Given the description of an element on the screen output the (x, y) to click on. 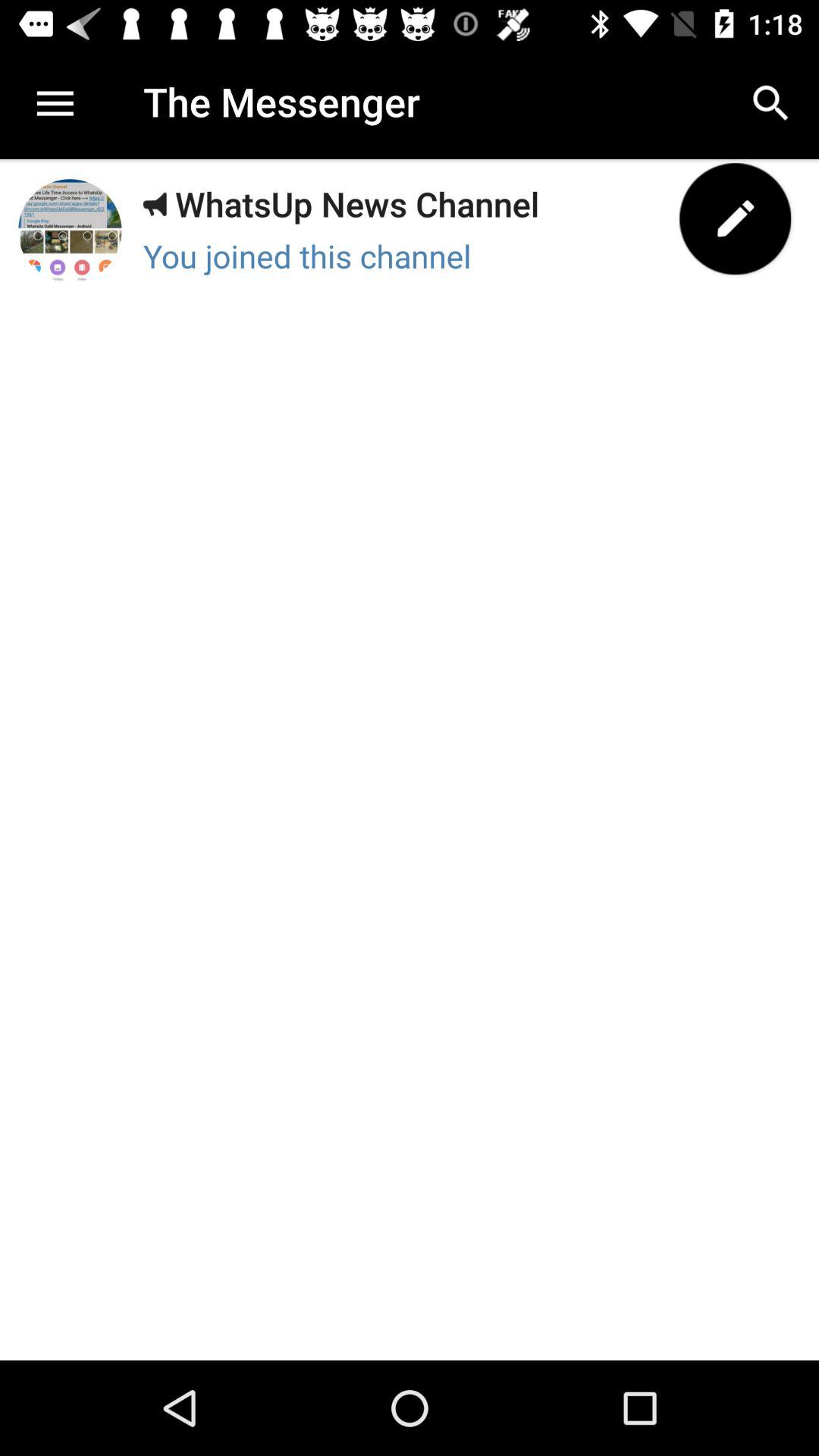
choose the icon at the top left corner (53, 103)
